Given the description of an element on the screen output the (x, y) to click on. 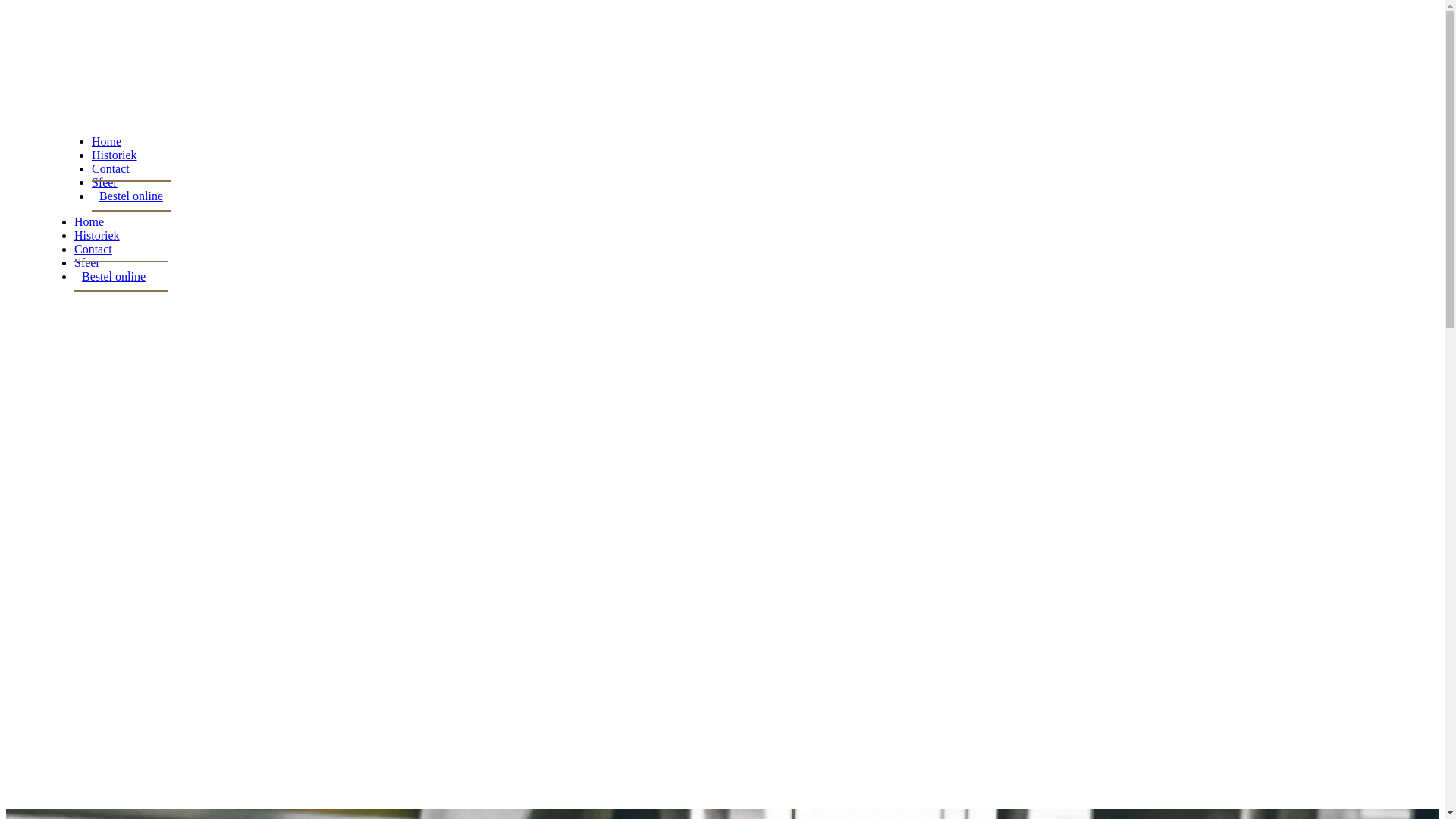
Historiek Element type: text (114, 154)
Sfeer Element type: text (87, 262)
Home Element type: text (106, 140)
Bestel online Element type: text (130, 195)
Historiek Element type: text (96, 235)
Bestel online Element type: text (113, 275)
Contact Element type: text (93, 248)
Home Element type: text (88, 221)
Sfeer Element type: text (104, 181)
Contact Element type: text (110, 168)
